Given the description of an element on the screen output the (x, y) to click on. 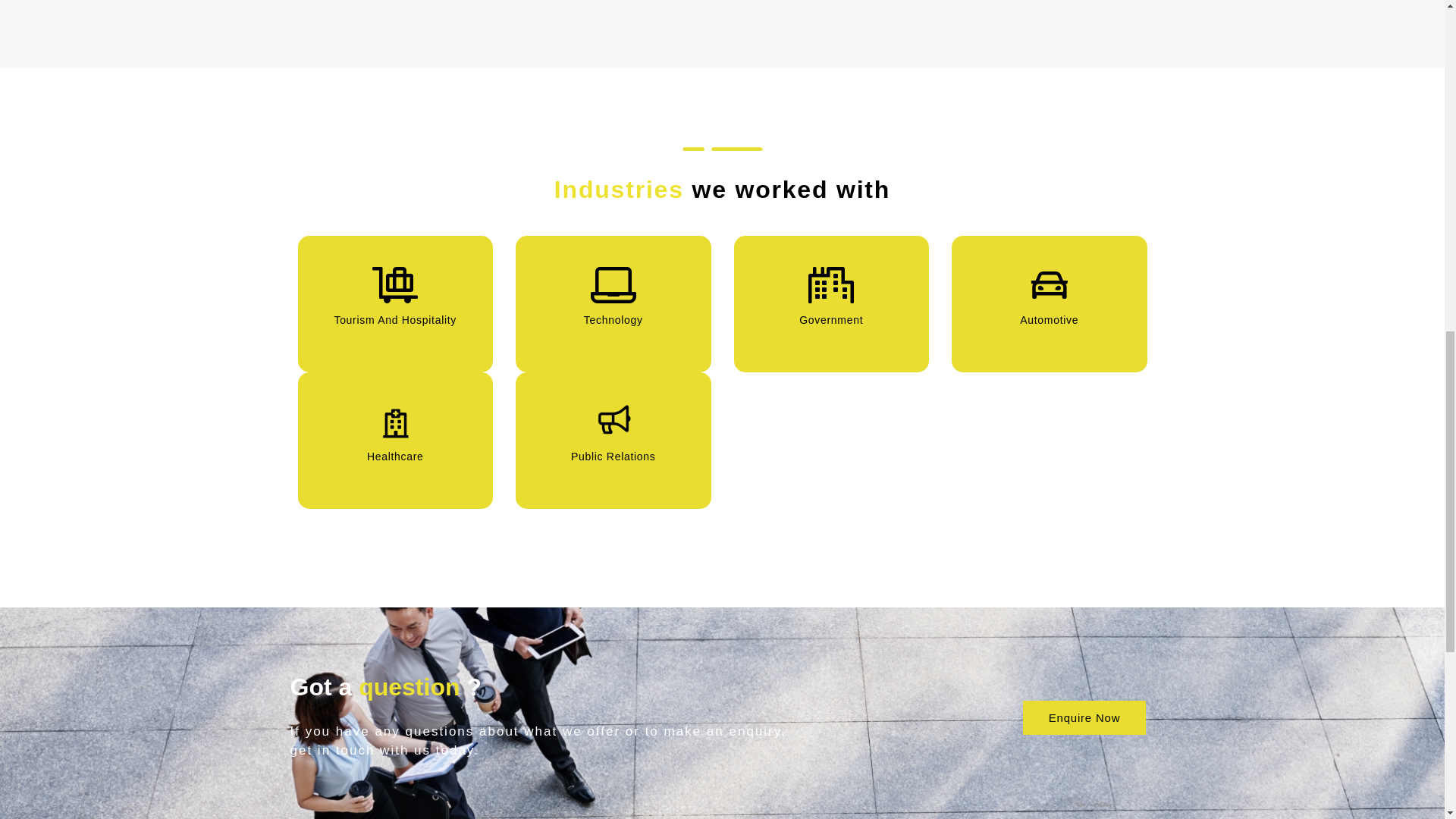
Technology (613, 284)
Government (830, 284)
Healthcare (395, 421)
Tourism and Hospitality (394, 284)
Automotive (1048, 284)
Public Relations (613, 421)
